Given the description of an element on the screen output the (x, y) to click on. 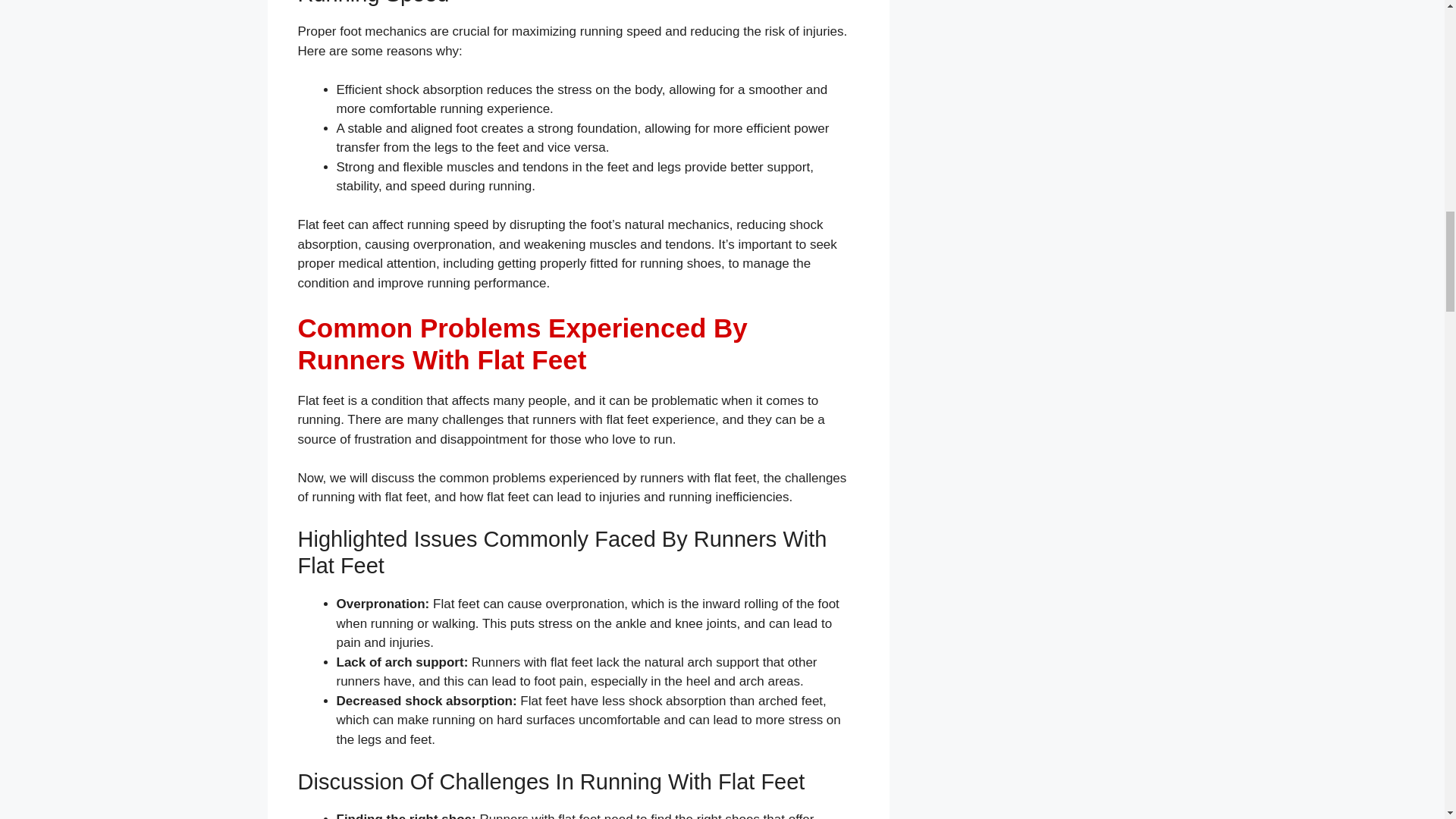
right shoes (727, 815)
running shoes, (682, 263)
